Given the description of an element on the screen output the (x, y) to click on. 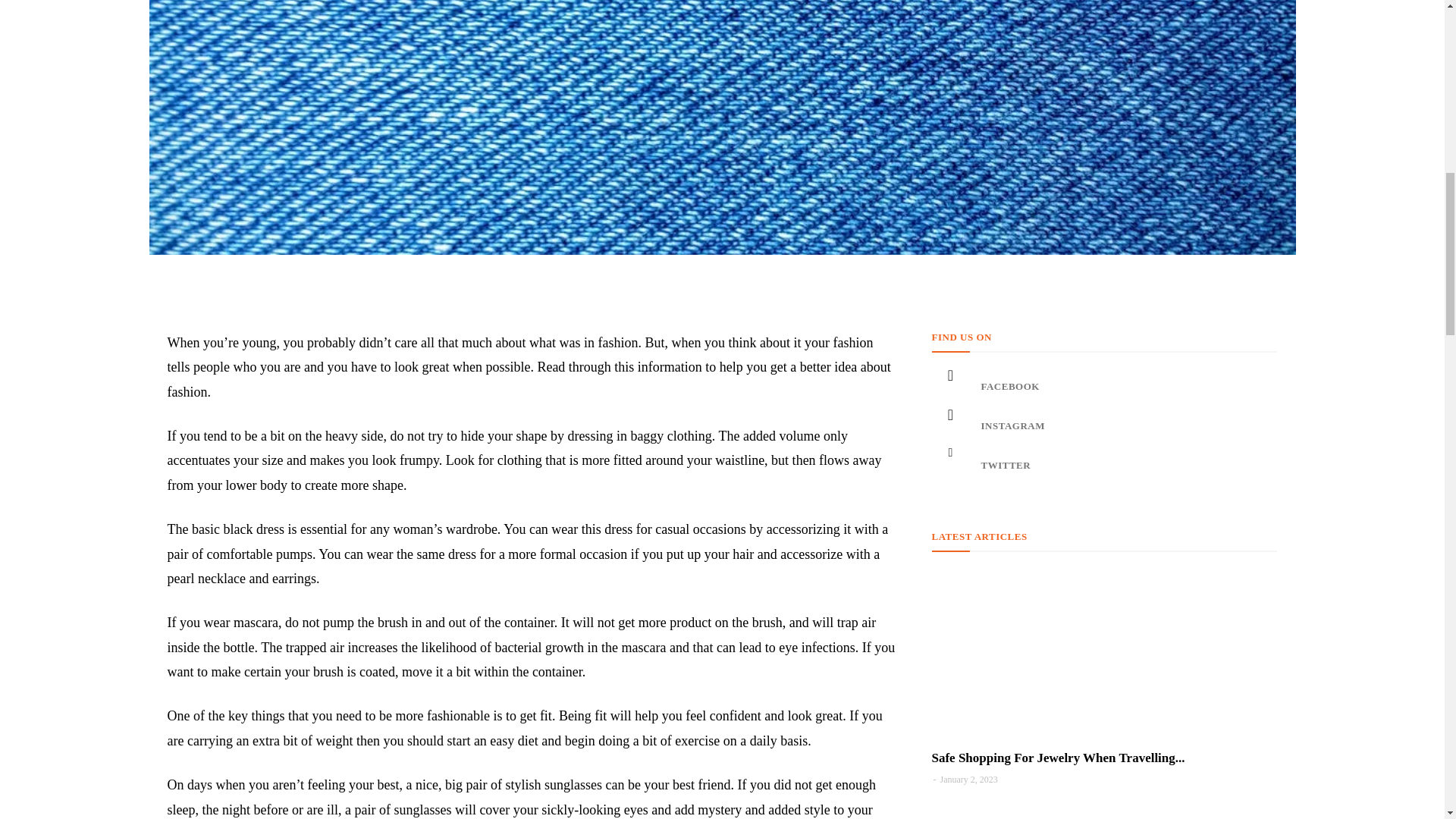
Instagram (950, 426)
Facebook (950, 386)
Safe Shopping For Jewelry When Travelling Abroad (1058, 757)
Safe Shopping For Jewelry When Travelling Abroad (1103, 653)
Twitter (950, 465)
